Given the description of an element on the screen output the (x, y) to click on. 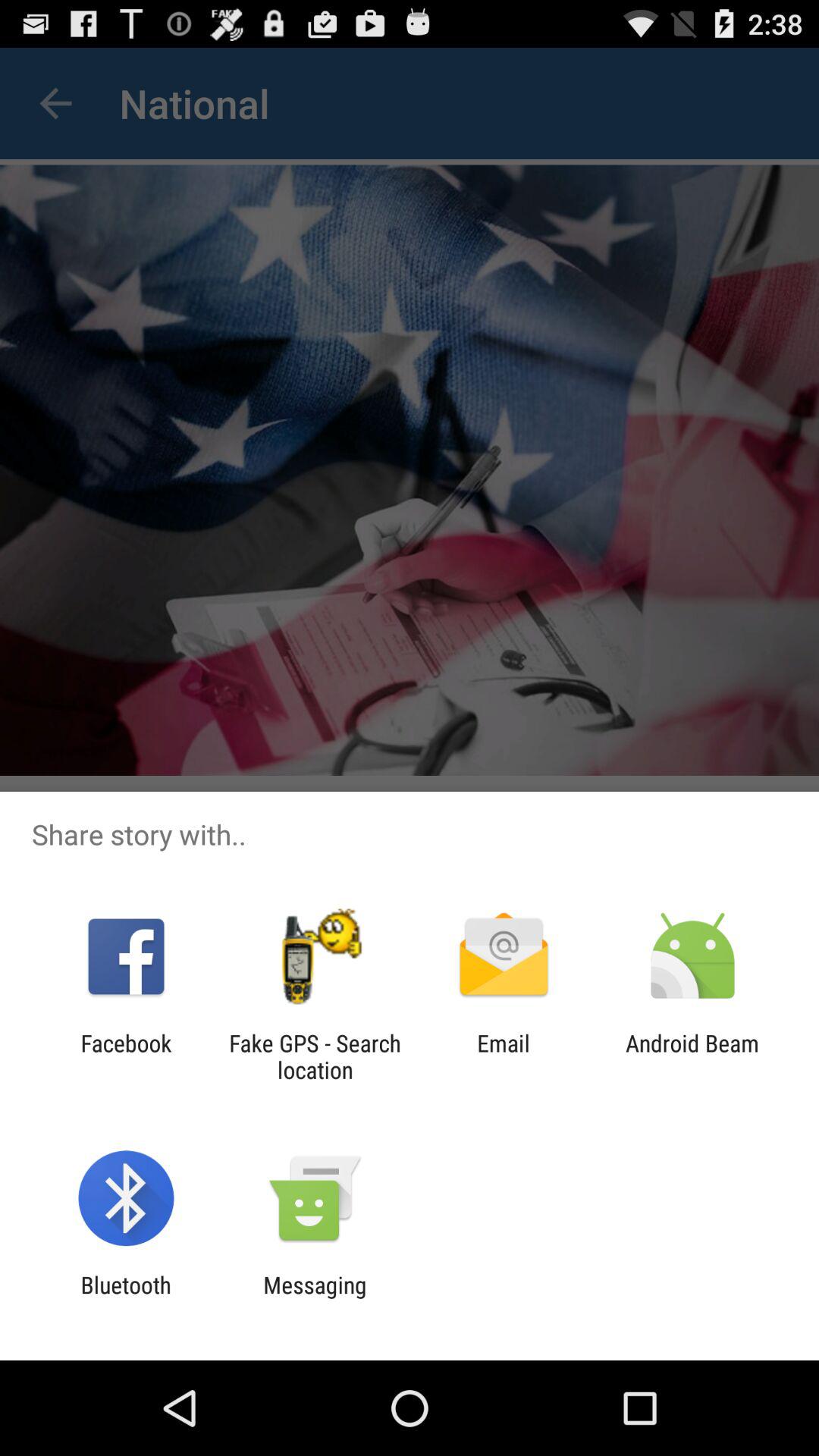
click item next to the fake gps search (125, 1056)
